Given the description of an element on the screen output the (x, y) to click on. 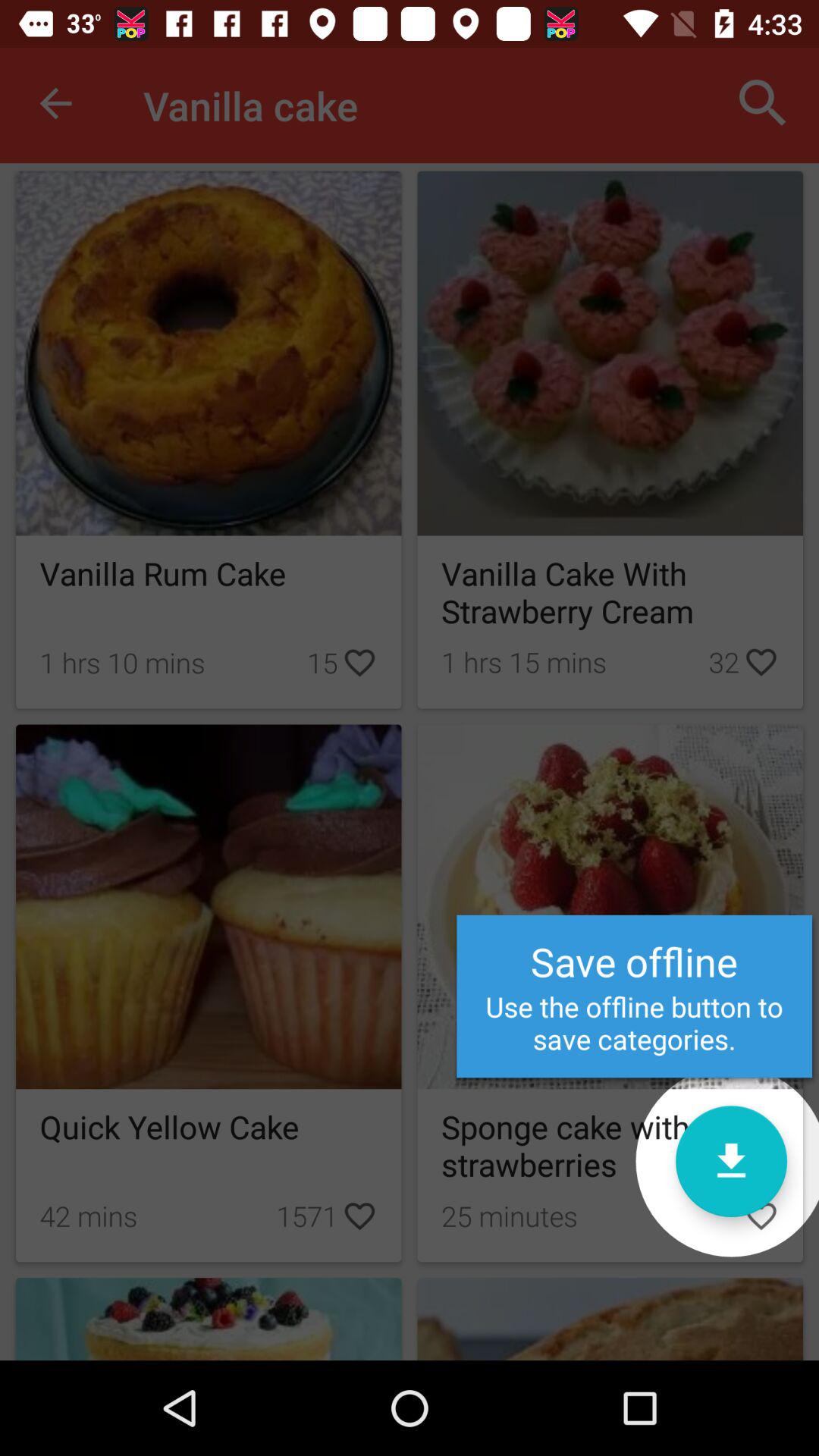
select the item to the right of vanilla cake (763, 103)
